Given the description of an element on the screen output the (x, y) to click on. 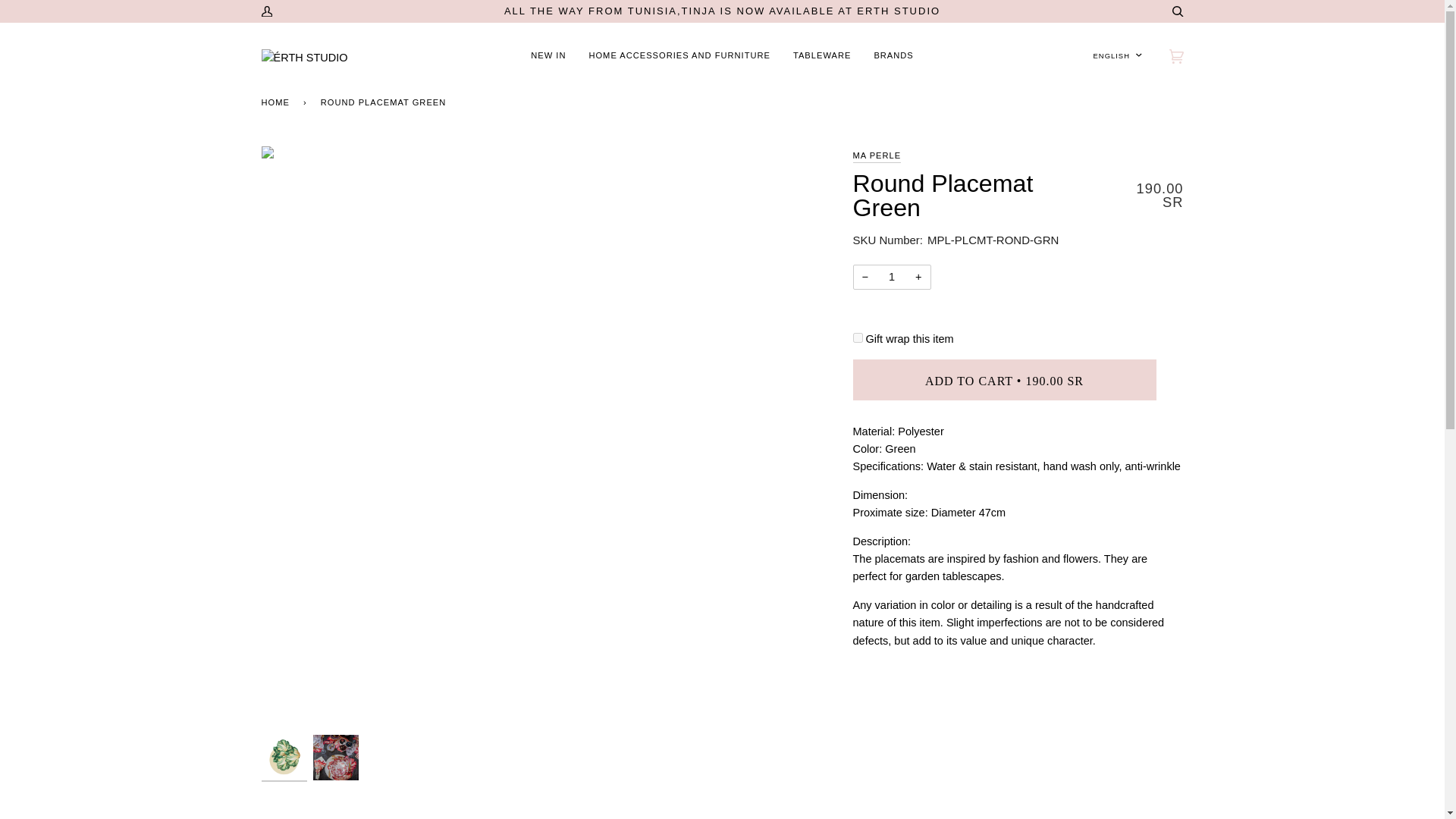
NEW IN (547, 55)
1 (890, 276)
TABLEWARE (821, 55)
HOME ACCESSORIES AND FURNITURE (678, 55)
BRANDS (892, 55)
Back to the frontpage (277, 102)
Yes (856, 337)
